Given the description of an element on the screen output the (x, y) to click on. 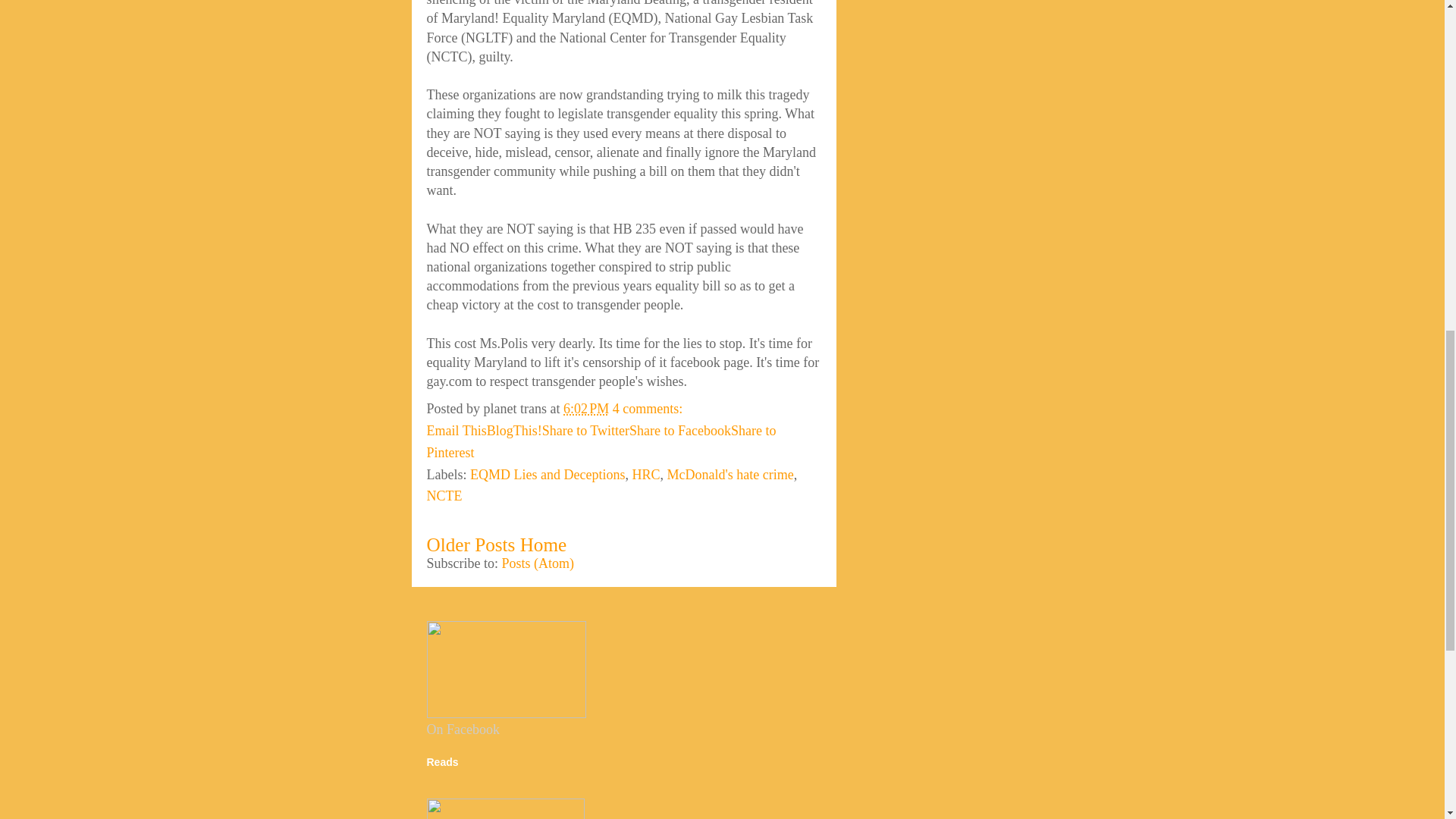
Email This (456, 430)
Share to Pinterest (601, 441)
Share to Pinterest (601, 441)
4 comments: (648, 408)
Older Posts (470, 544)
Share to Twitter (584, 430)
Older Posts (470, 544)
BlogThis! (513, 430)
HRC (645, 474)
